Given the description of an element on the screen output the (x, y) to click on. 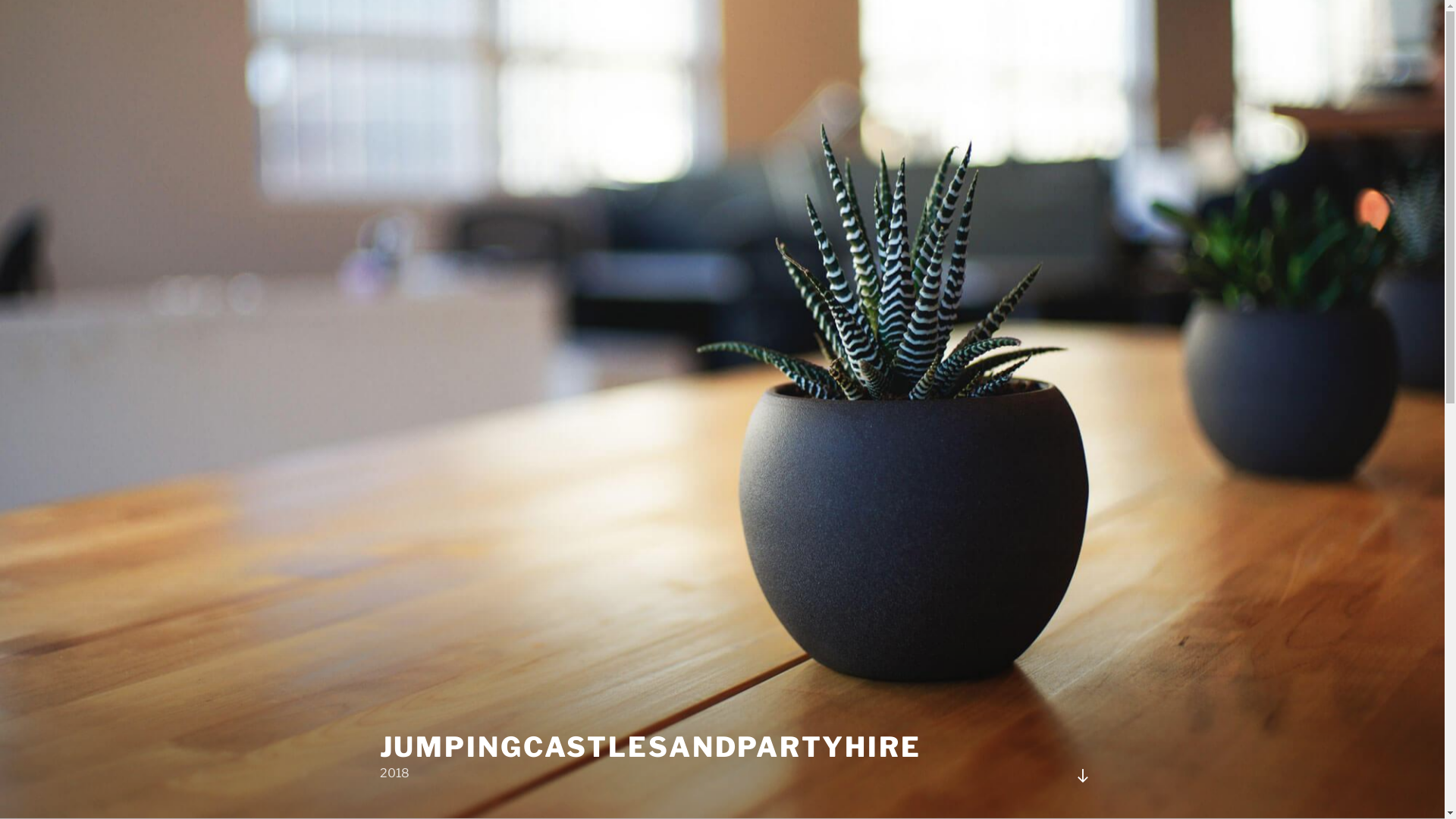
Skip to content Element type: text (0, 0)
Scroll down to content Element type: text (1082, 775)
JUMPINGCASTLESANDPARTYHIRE Element type: text (649, 746)
